Given the description of an element on the screen output the (x, y) to click on. 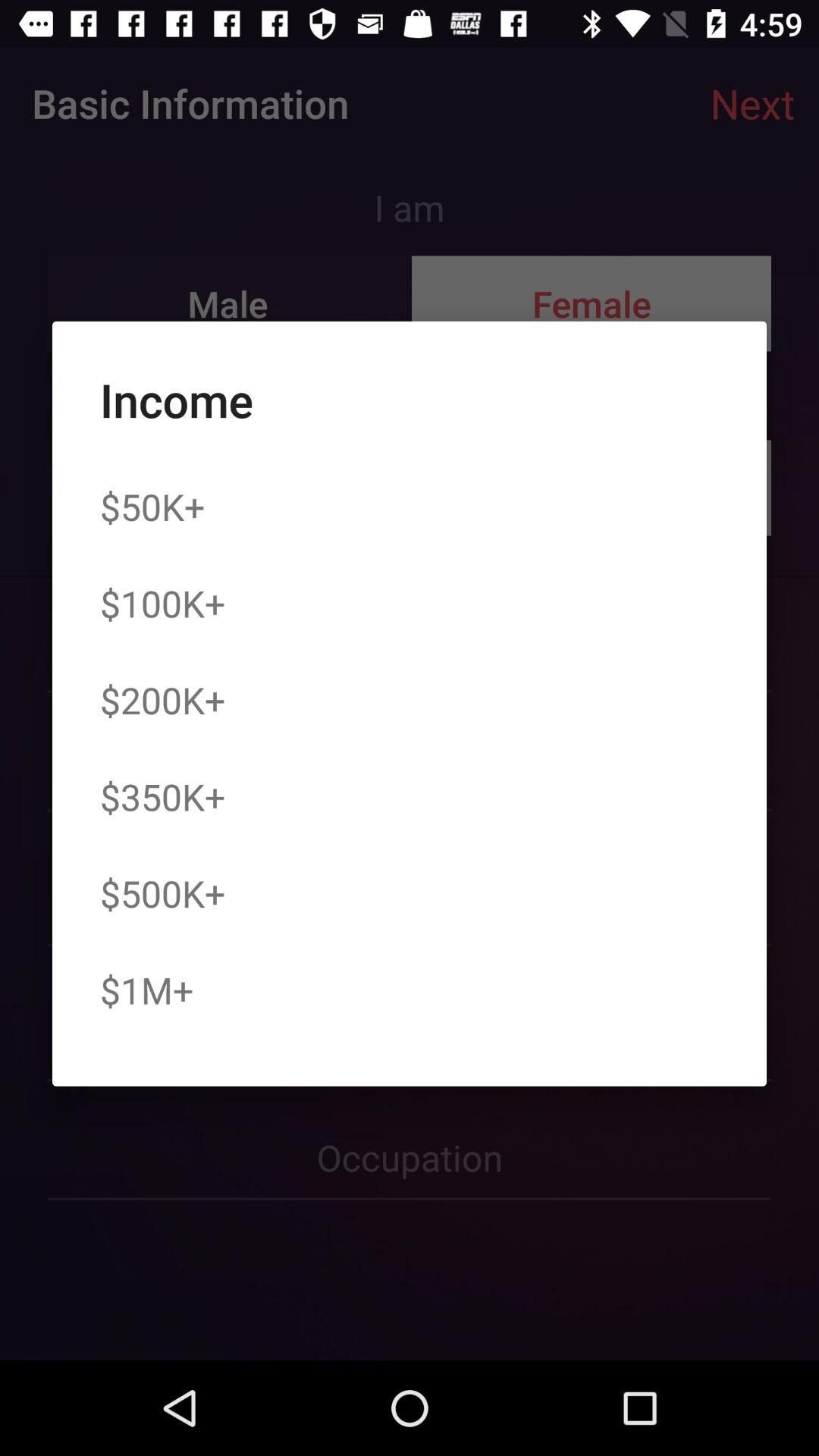
flip until the $350k+ (162, 796)
